Given the description of an element on the screen output the (x, y) to click on. 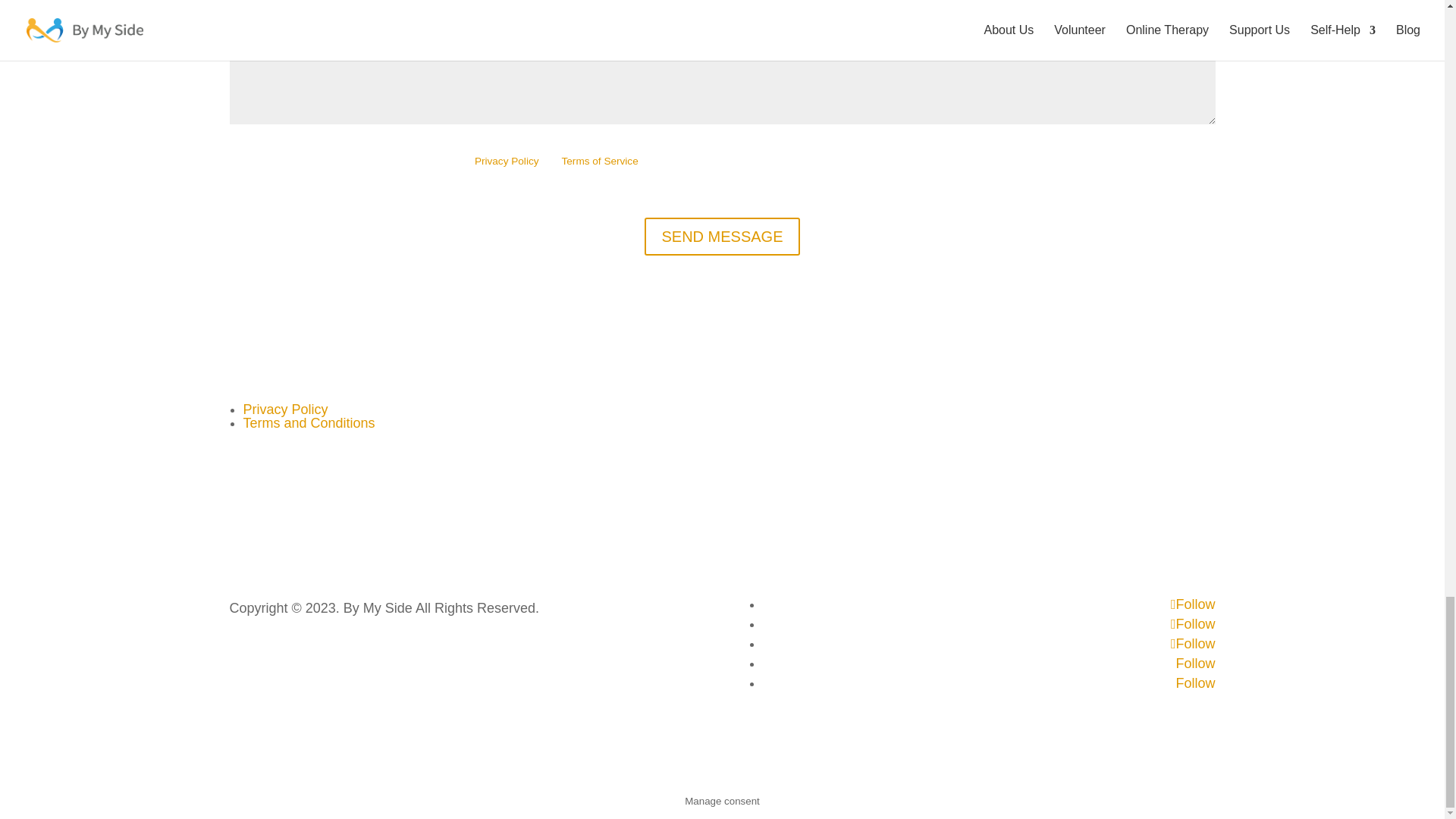
Privacy Policy (285, 409)
Follow on Instagram (1192, 643)
Follow on Twitter (1192, 623)
Follow on LinkedIn (1194, 663)
Terms of Service (598, 161)
Follow on TikTok (1194, 683)
SEND MESSAGE (722, 236)
Follow on Facebook (1192, 604)
Privacy Policy (506, 161)
